Given the description of an element on the screen output the (x, y) to click on. 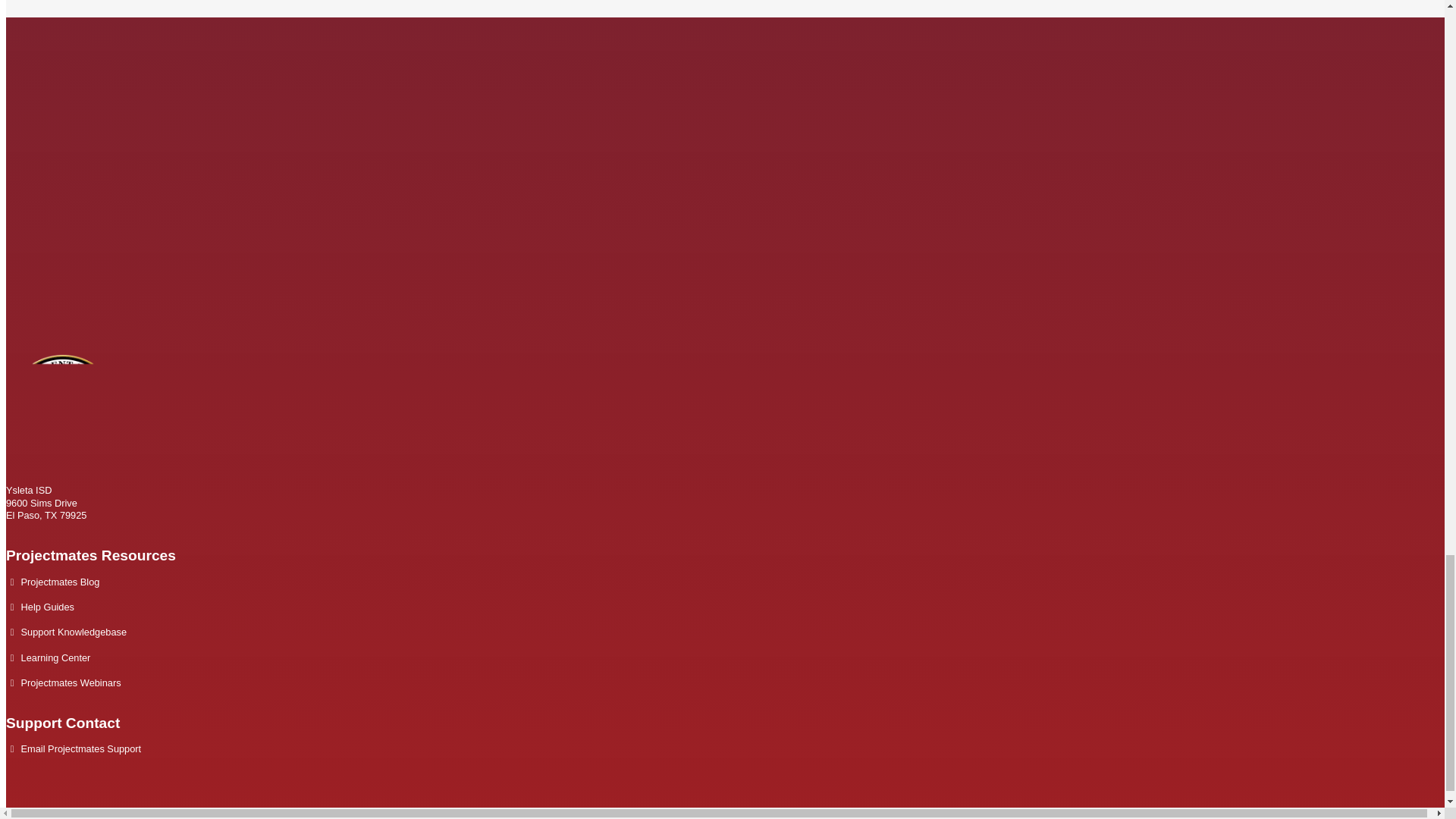
Projectmates Webinars (70, 682)
Projectmates Support Knowledgebase (73, 632)
Learning Center (55, 657)
Ysleta ISD (62, 464)
Projectmates Help Guides (47, 606)
Help Guides (47, 606)
Projectmates Webinars (70, 682)
Email Projectmates Support (81, 748)
Projectmates Blog (60, 582)
Support Knowledgebase (73, 632)
Projectmates Blog (60, 582)
Projectmates Learning Center (55, 657)
